Given the description of an element on the screen output the (x, y) to click on. 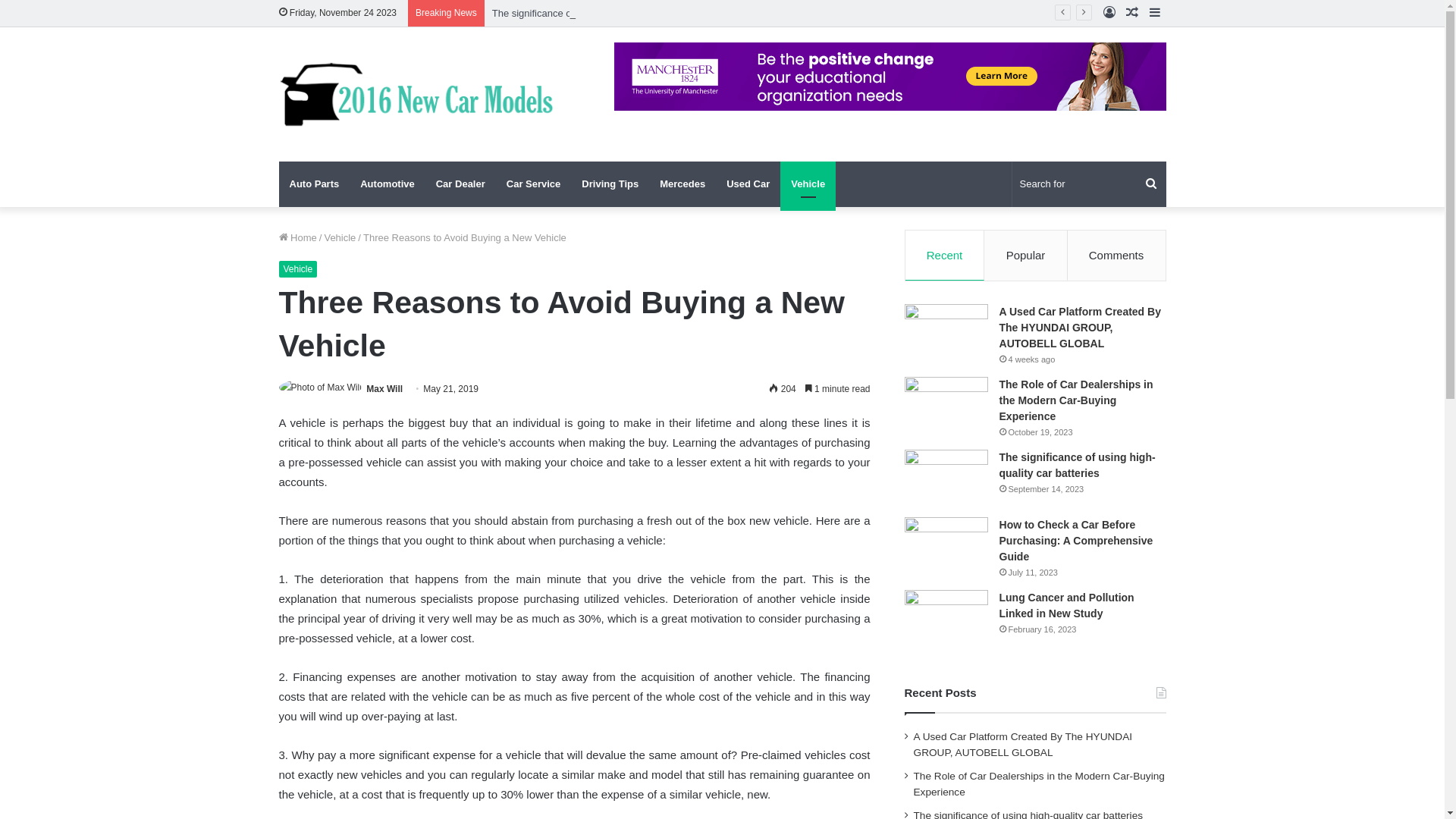
Popular Element type: text (1025, 255)
Home Element type: text (297, 237)
Used Car Element type: text (747, 184)
Random Article Element type: text (1131, 13)
Max Will Element type: text (384, 388)
Search for Element type: text (1150, 184)
How to Check a Car Before Purchasing: A Comprehensive Guide Element type: text (1076, 540)
The significance of using high-quality car batteries Element type: text (1077, 465)
Mercedes Element type: text (682, 184)
Driving Tips Element type: text (610, 184)
Log In Element type: text (1109, 13)
Search for Element type: hover (1088, 184)
2016 New Car Models - Info on car dealer Element type: hover (419, 94)
Sidebar Element type: text (1154, 13)
Automotive Element type: text (387, 184)
Car Service Element type: text (533, 184)
Comments Element type: text (1116, 255)
Vehicle Element type: text (298, 268)
Auto Parts Element type: text (314, 184)
Recent Element type: text (945, 255)
Lung Cancer and Pollution Linked in New Study Element type: text (1066, 605)
Vehicle Element type: text (807, 184)
Vehicle Element type: text (339, 237)
Car Dealer Element type: text (460, 184)
